Given the description of an element on the screen output the (x, y) to click on. 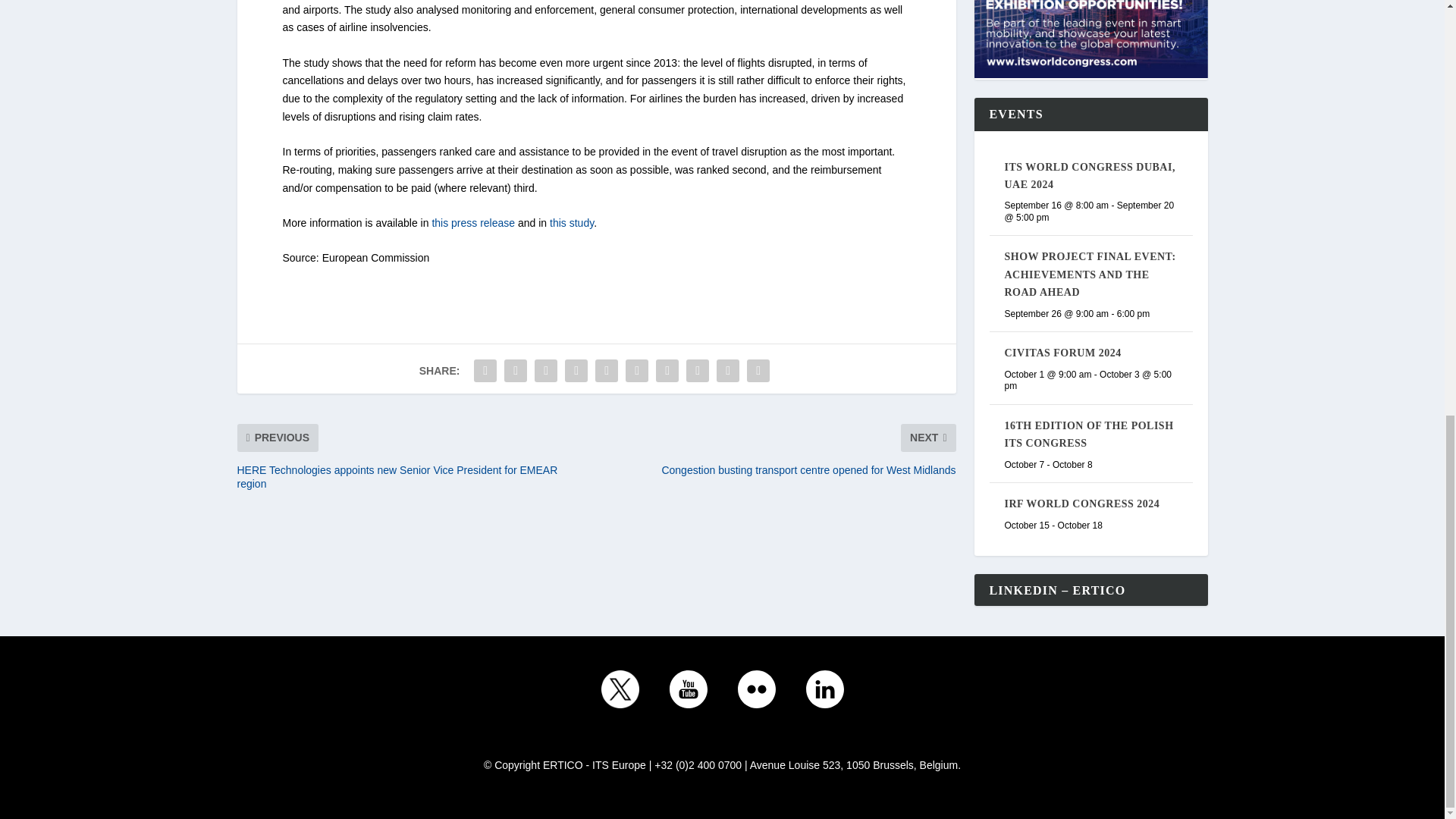
this study (572, 223)
ITS WORLD CONGRESS DUBAI, UAE 2024 (1089, 175)
this press release (472, 223)
